Given the description of an element on the screen output the (x, y) to click on. 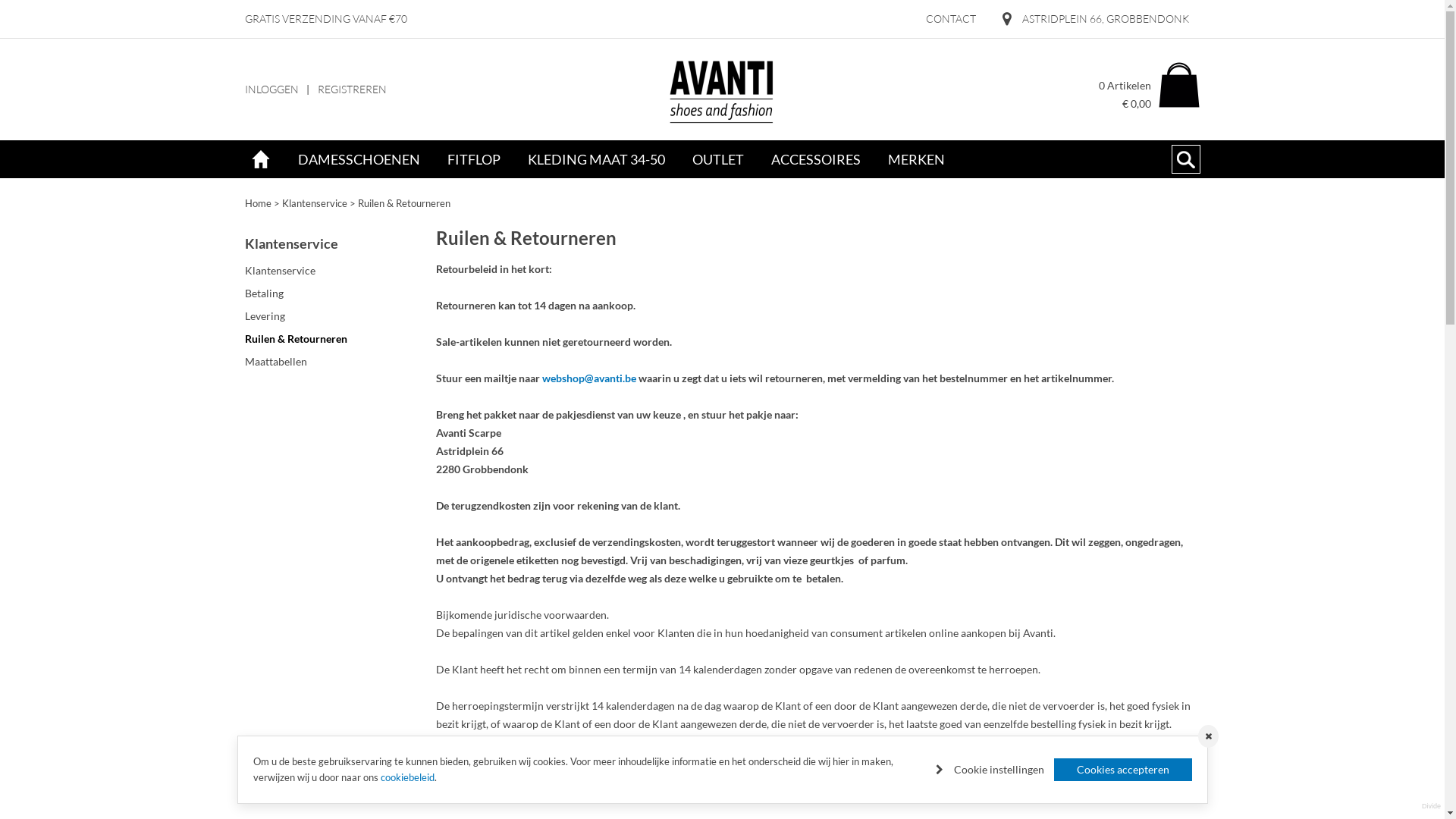
webshop@avanti.be Element type: text (588, 377)
Avanti schoenen Element type: hover (721, 89)
Cookies accepteren Element type: text (1123, 769)
Betaling Element type: text (333, 293)
Ruilen & Retourneren Element type: text (403, 203)
MERKEN Element type: text (915, 159)
Cookie instellingen Element type: text (989, 769)
HOME Element type: text (259, 159)
ASTRIDPLEIN 66, GROBBENDONK Element type: text (1095, 18)
Divide Element type: text (1430, 806)
Home Element type: text (257, 203)
Klantenservice Element type: text (333, 270)
OUTLET Element type: text (716, 159)
DAMESSCHOENEN Element type: text (358, 159)
Ruilen & Retourneren Element type: text (333, 338)
KLEDING MAAT 34-50 Element type: text (596, 159)
Maattabellen Element type: text (333, 361)
Klantenservice Element type: text (314, 203)
REGISTREREN Element type: text (351, 89)
Levering Element type: text (333, 315)
CONTACT Element type: text (949, 18)
INLOGGEN Element type: text (270, 89)
FITFLOP Element type: text (473, 159)
ACCESSOIRES Element type: text (814, 159)
cookiebeleid Element type: text (407, 777)
webshop@avanti.be Element type: text (1117, 759)
